Given the description of an element on the screen output the (x, y) to click on. 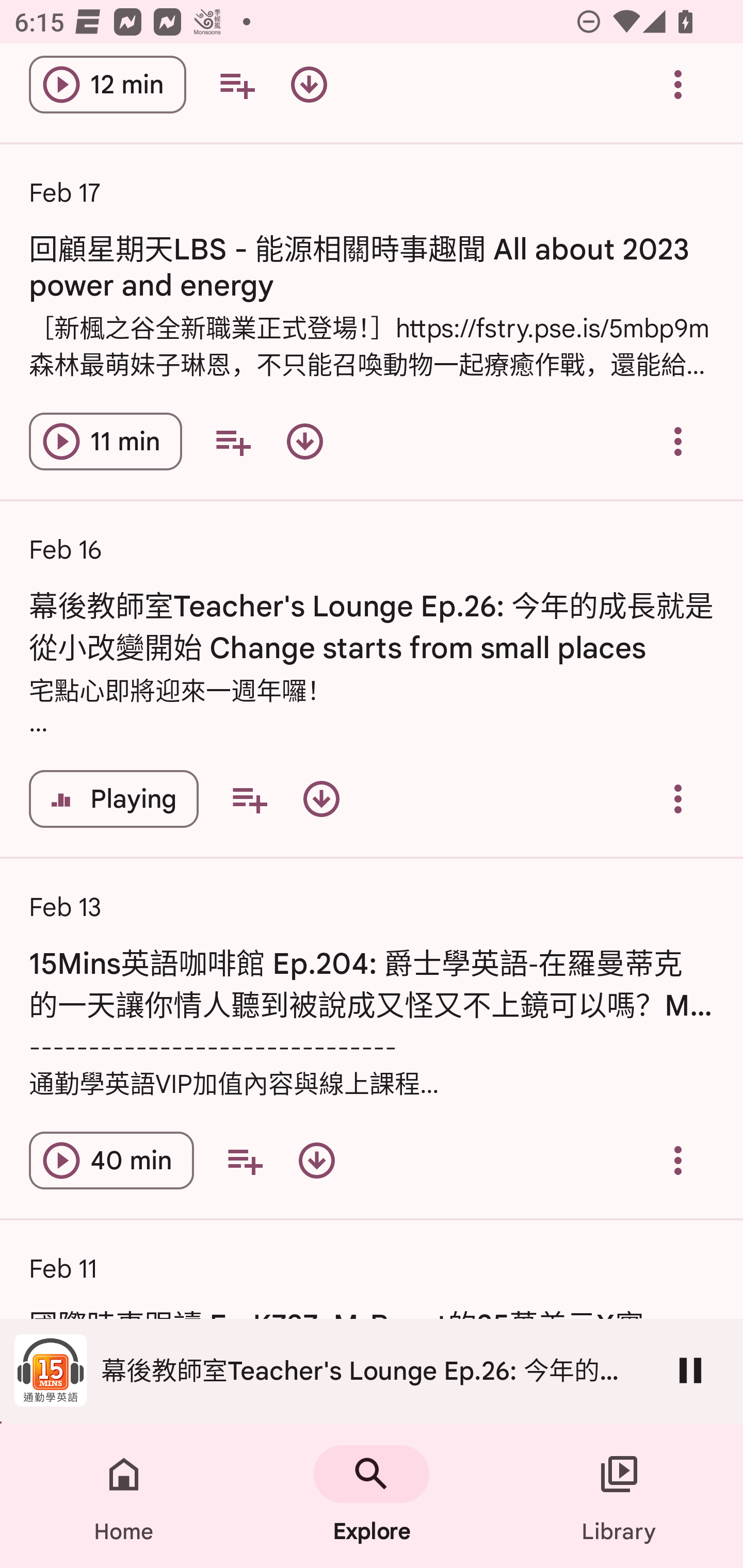
Add to your queue (236, 85)
Download episode (308, 85)
Overflow menu (677, 85)
Add to your queue (232, 441)
Download episode (304, 441)
Overflow menu (677, 441)
Add to your queue (249, 798)
Download episode (321, 798)
Overflow menu (677, 798)
Add to your queue (244, 1160)
Download episode (316, 1160)
Overflow menu (677, 1160)
Pause (690, 1370)
Home (123, 1495)
Library (619, 1495)
